Given the description of an element on the screen output the (x, y) to click on. 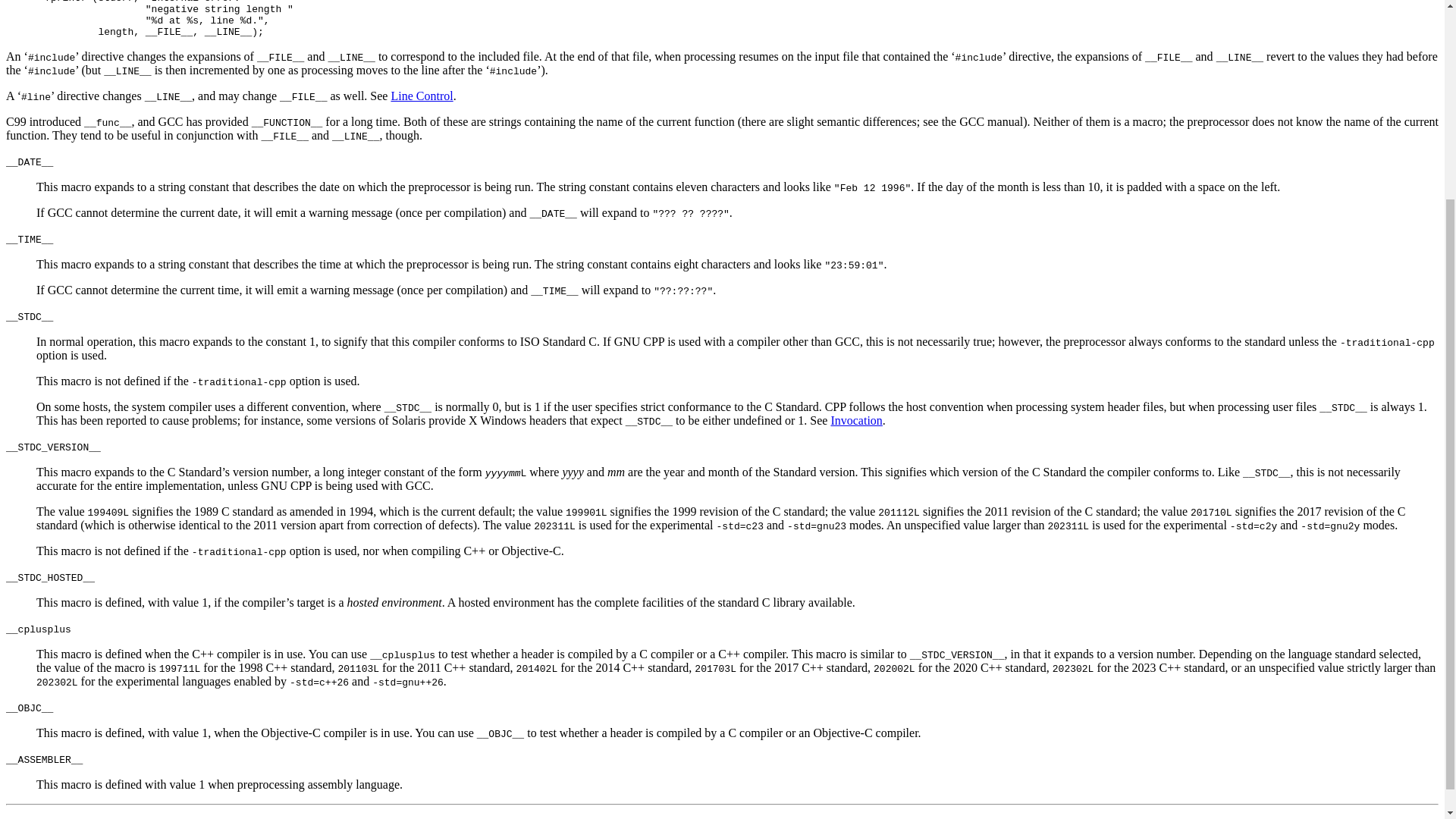
Line Control (421, 95)
Invocation (855, 420)
